Given the description of an element on the screen output the (x, y) to click on. 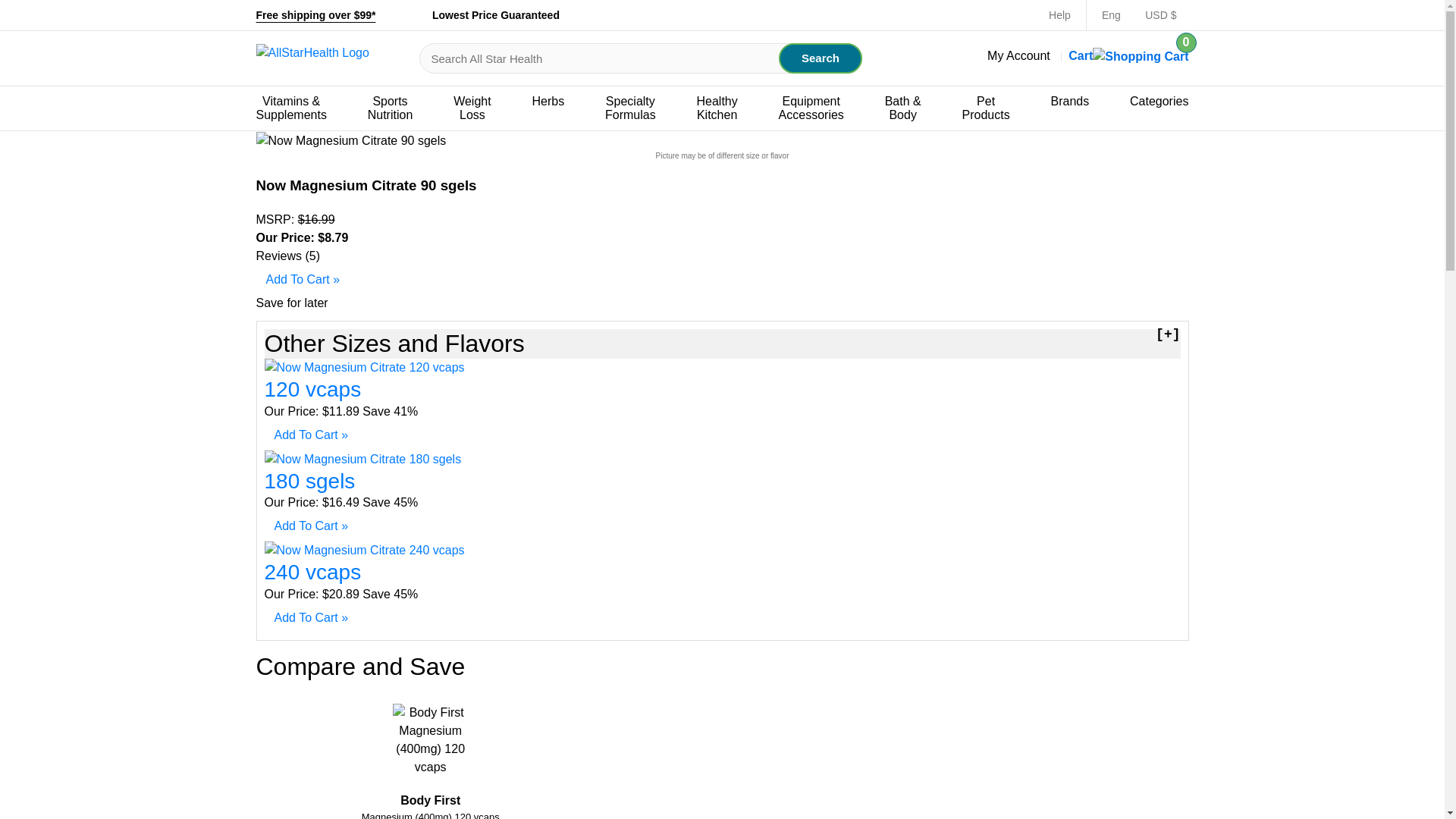
Search (390, 108)
Search (819, 58)
My Account (819, 58)
Help (1018, 55)
Eng (1059, 15)
